Given the description of an element on the screen output the (x, y) to click on. 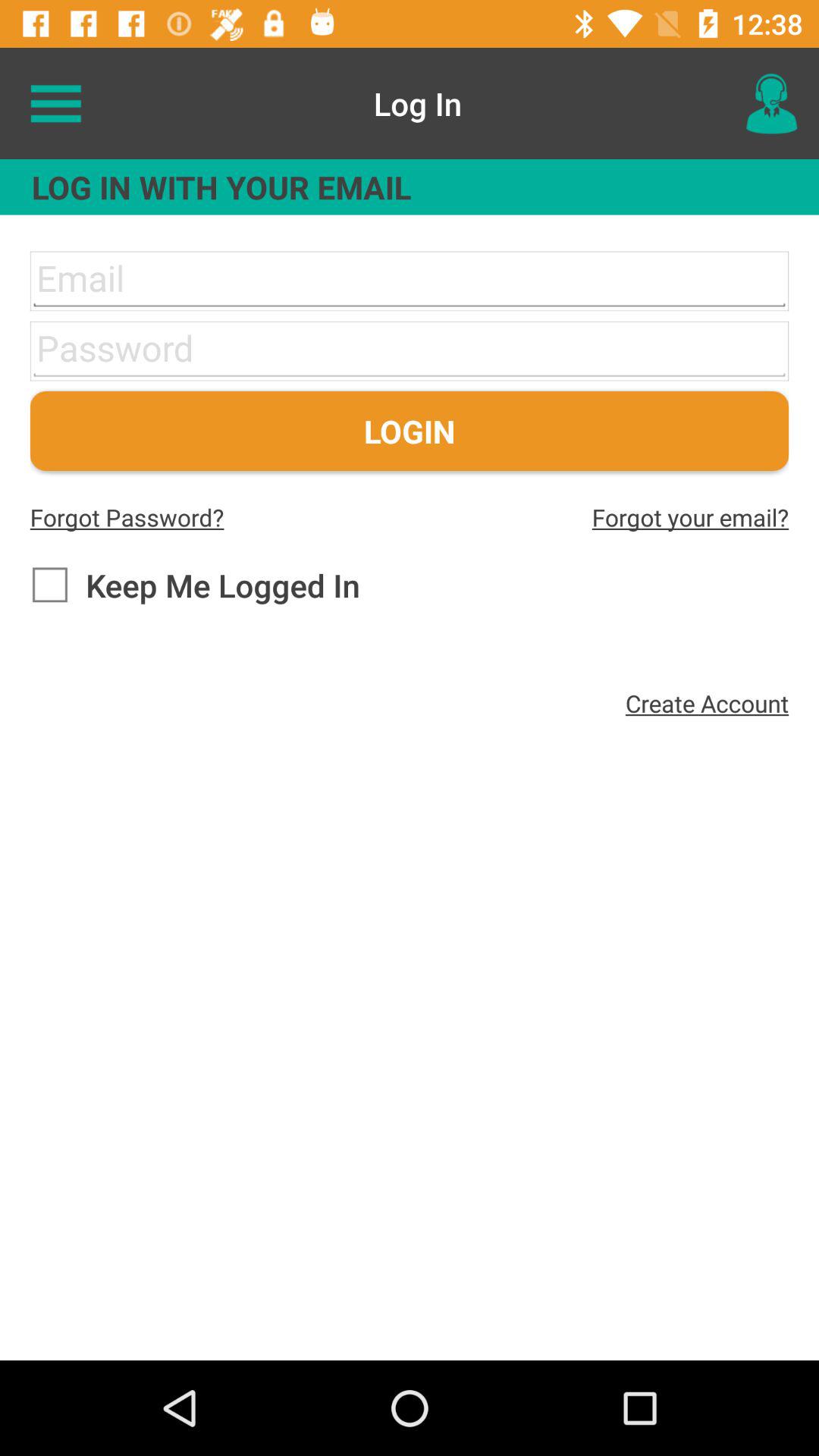
turn off item below the forgot password? icon (195, 584)
